Given the description of an element on the screen output the (x, y) to click on. 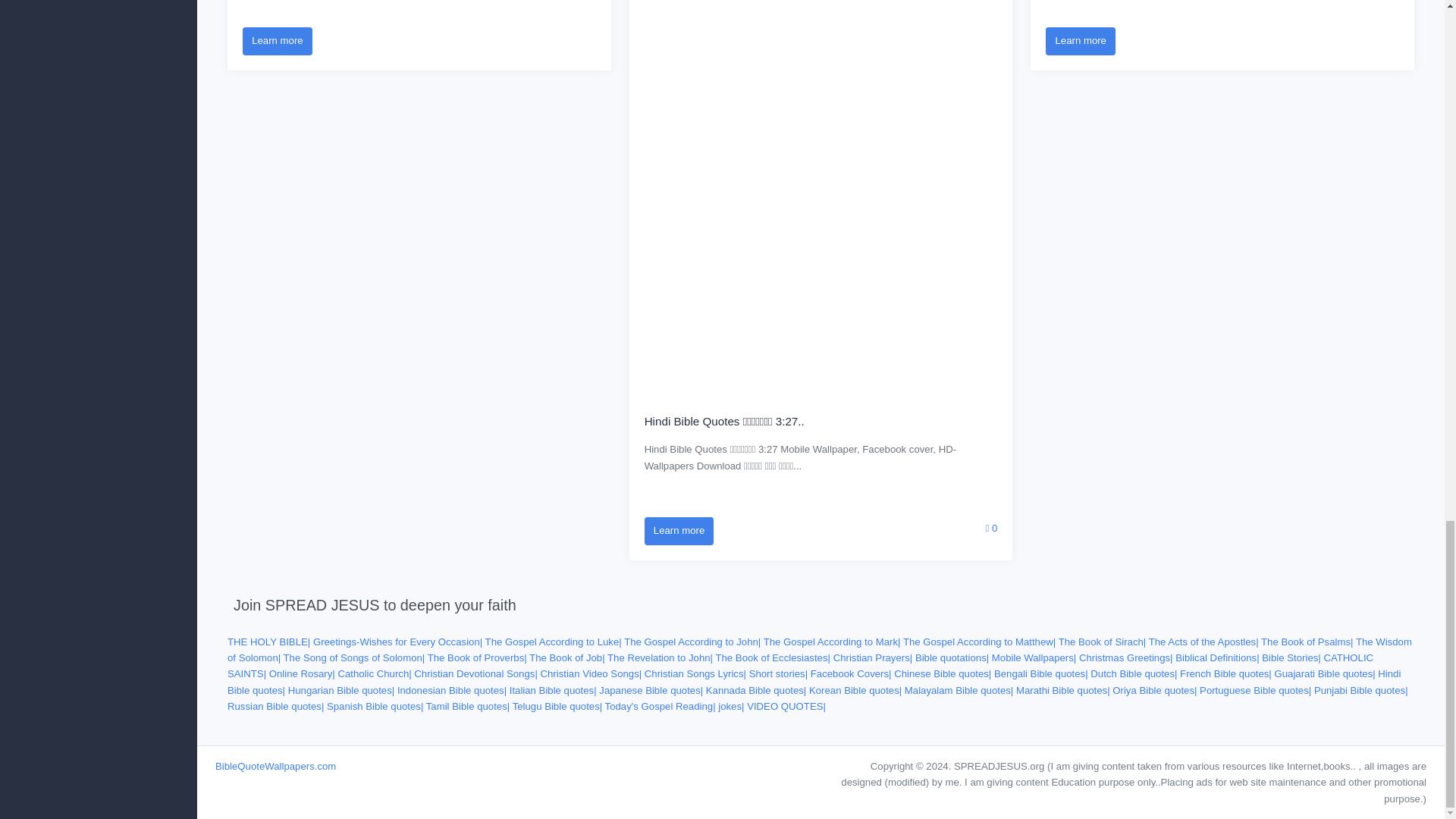
Comments: 0 (991, 526)
